Given the description of an element on the screen output the (x, y) to click on. 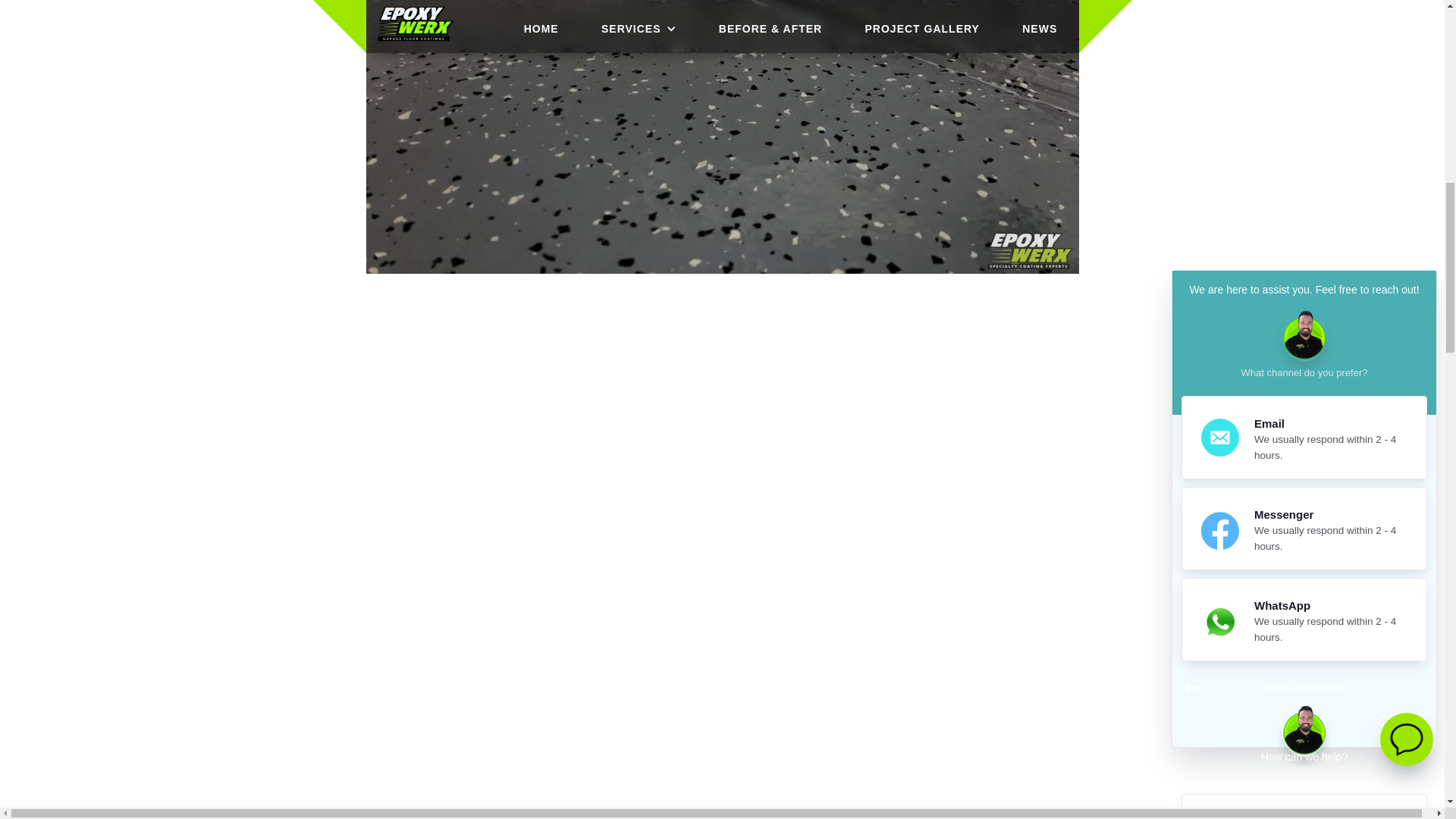
Send my message (1308, 276)
Send my message (1308, 276)
